Given the description of an element on the screen output the (x, y) to click on. 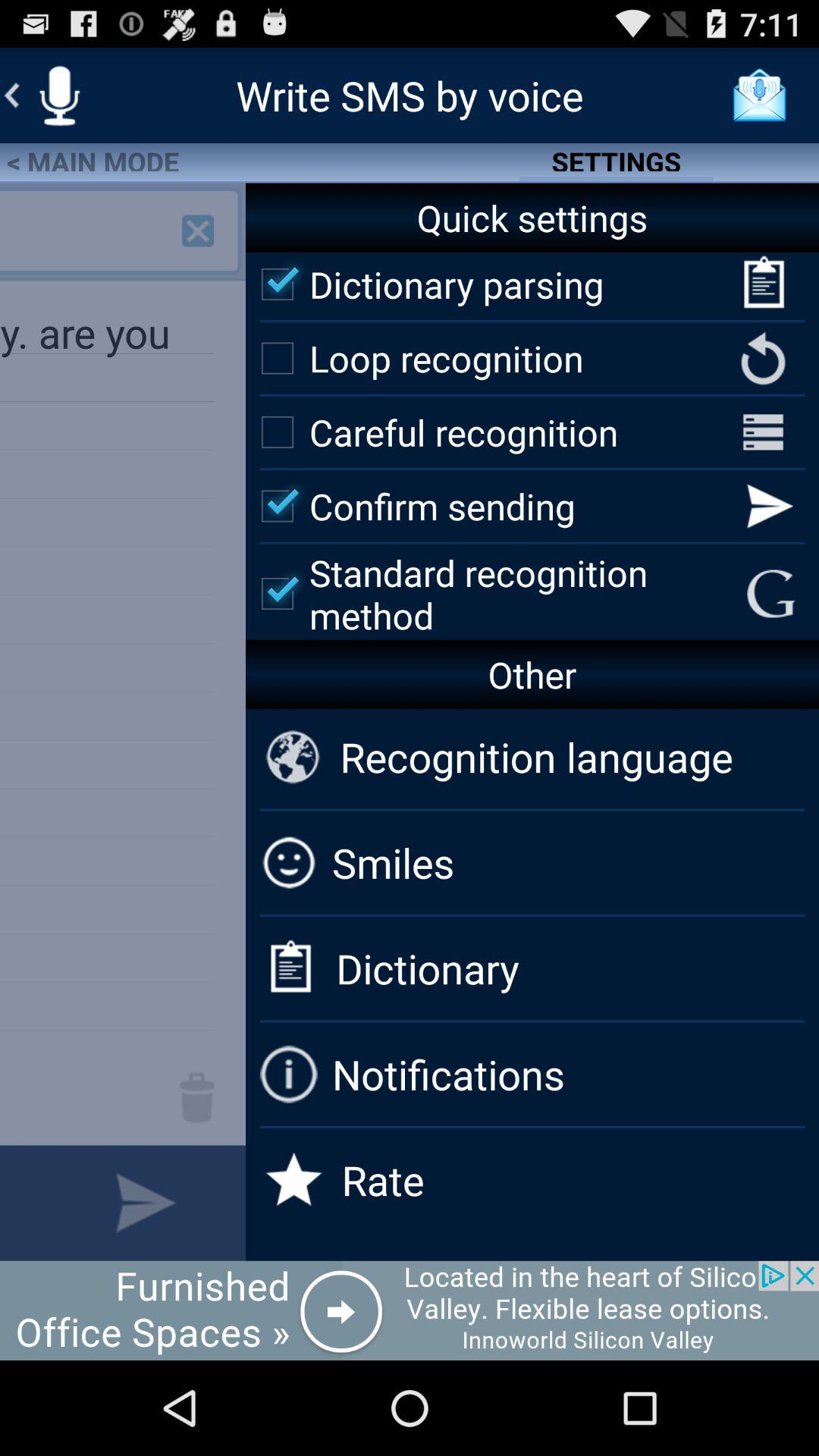
trash sms (197, 1097)
